Given the description of an element on the screen output the (x, y) to click on. 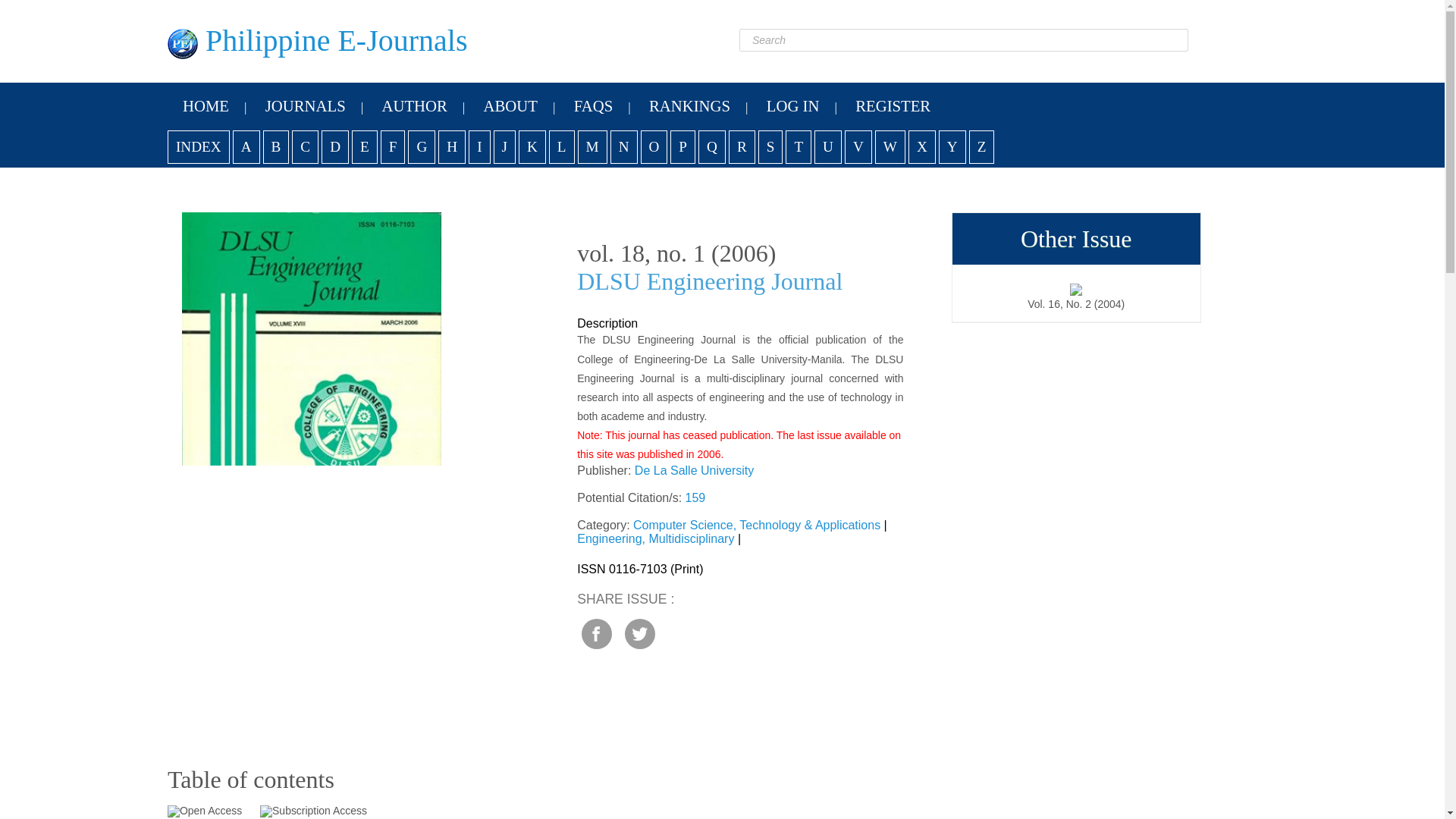
Philippine E-Journals (317, 40)
AUTHOR (413, 106)
ABOUT (510, 106)
REGISTER (892, 106)
RANKINGS (689, 106)
JOURNALS (305, 106)
FAQS (593, 106)
INDEX (198, 146)
LOG IN (792, 106)
facebook (596, 633)
HOME (205, 106)
Twitter (639, 633)
